Given the description of an element on the screen output the (x, y) to click on. 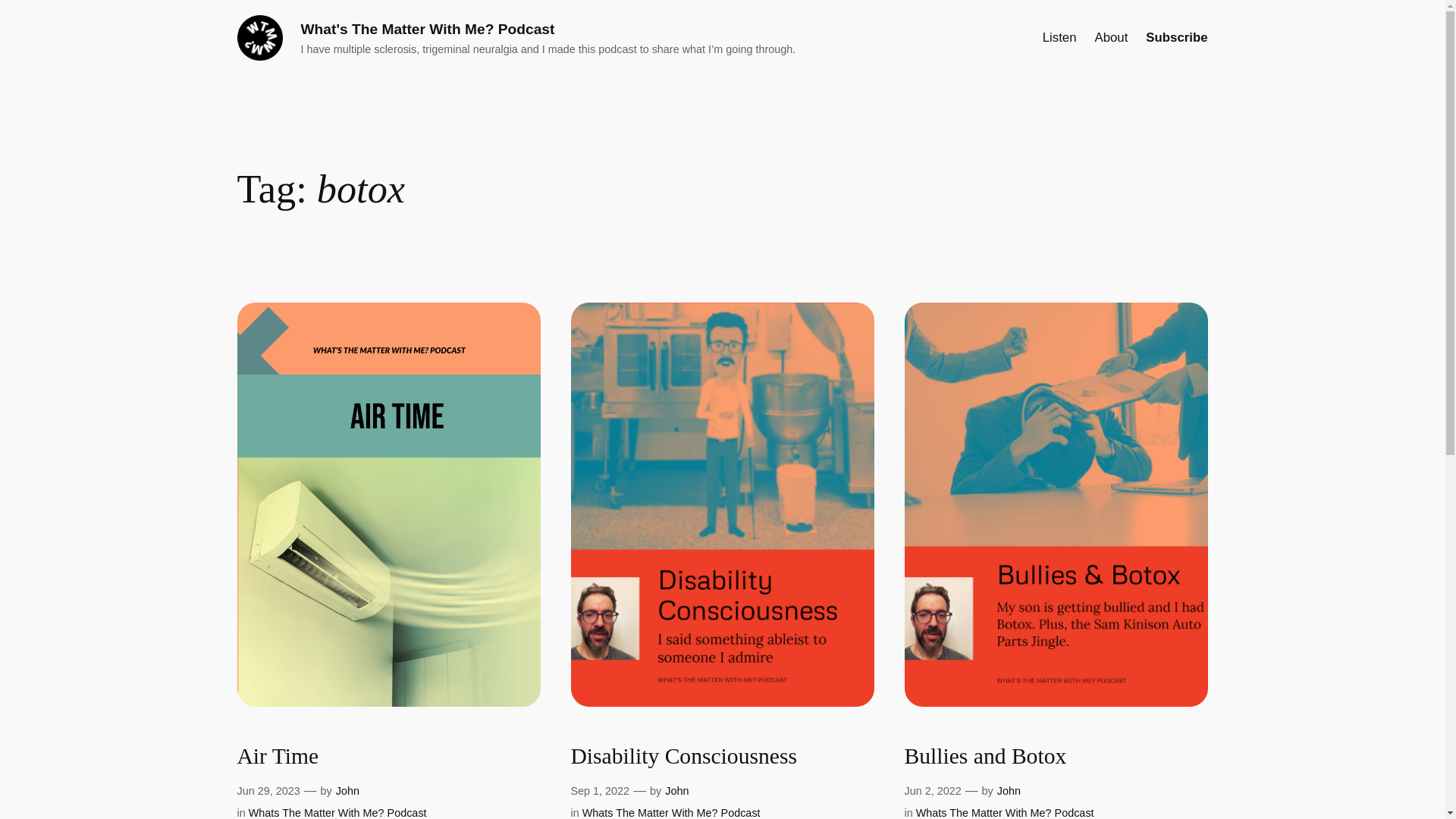
Disability Consciousness (683, 756)
Sep 1, 2022 (599, 790)
Whats The Matter With Me? Podcast (671, 812)
John (347, 790)
Air Time (276, 756)
Bullies and Botox (984, 756)
What's The Matter With Me? Podcast (426, 28)
About (1111, 37)
Listen (1059, 37)
Jun 2, 2022 (932, 790)
